Given the description of an element on the screen output the (x, y) to click on. 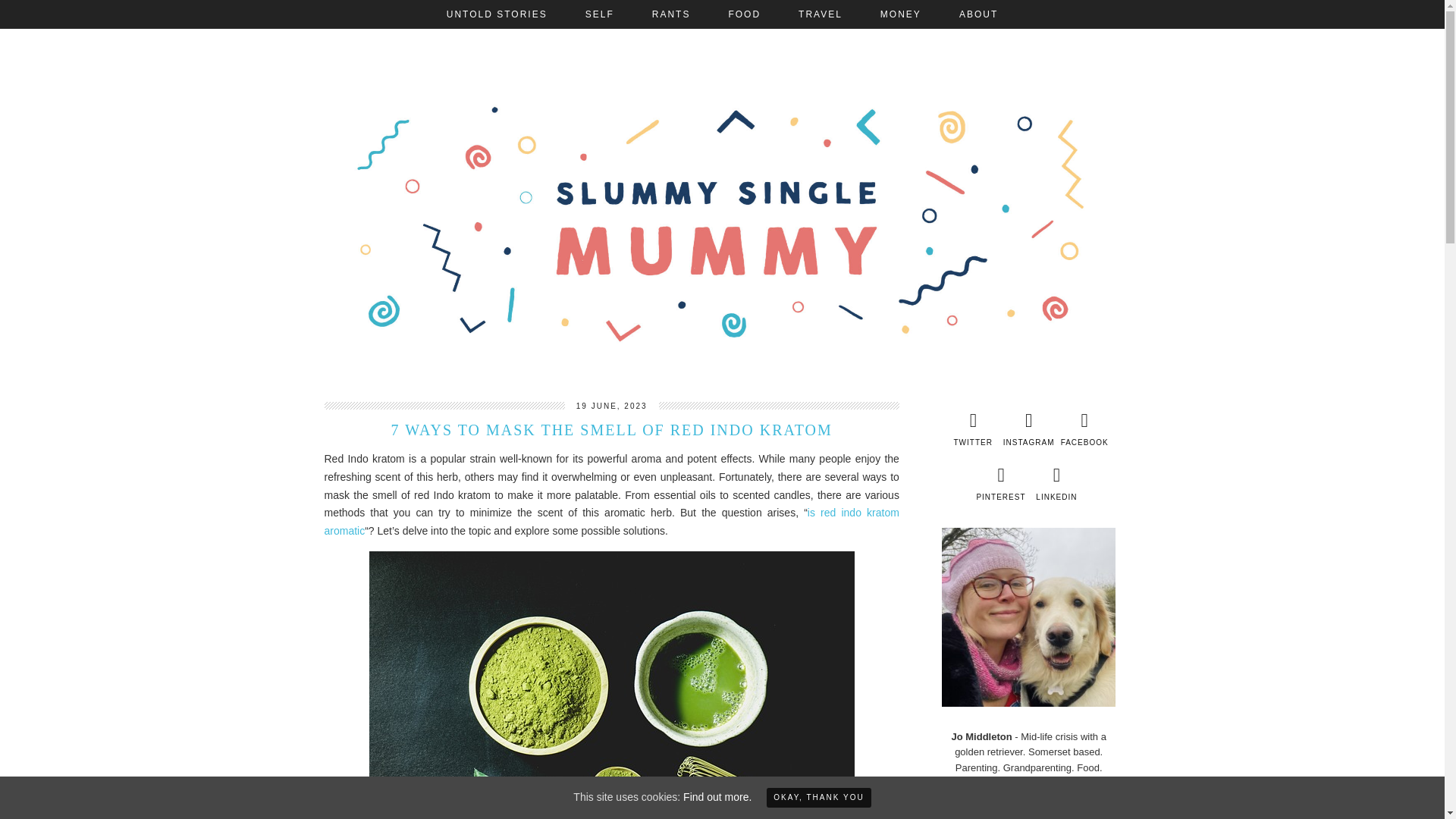
instagram (1029, 428)
facebook (1084, 428)
ABOUT (978, 14)
pinterest (999, 483)
twitter (972, 428)
TRAVEL (819, 14)
MONEY (900, 14)
linkedin (1056, 483)
FOOD (743, 14)
SELF (599, 14)
RANTS (671, 14)
UNTOLD STORIES (497, 14)
is red indo kratom aromatic (611, 521)
